Given the description of an element on the screen output the (x, y) to click on. 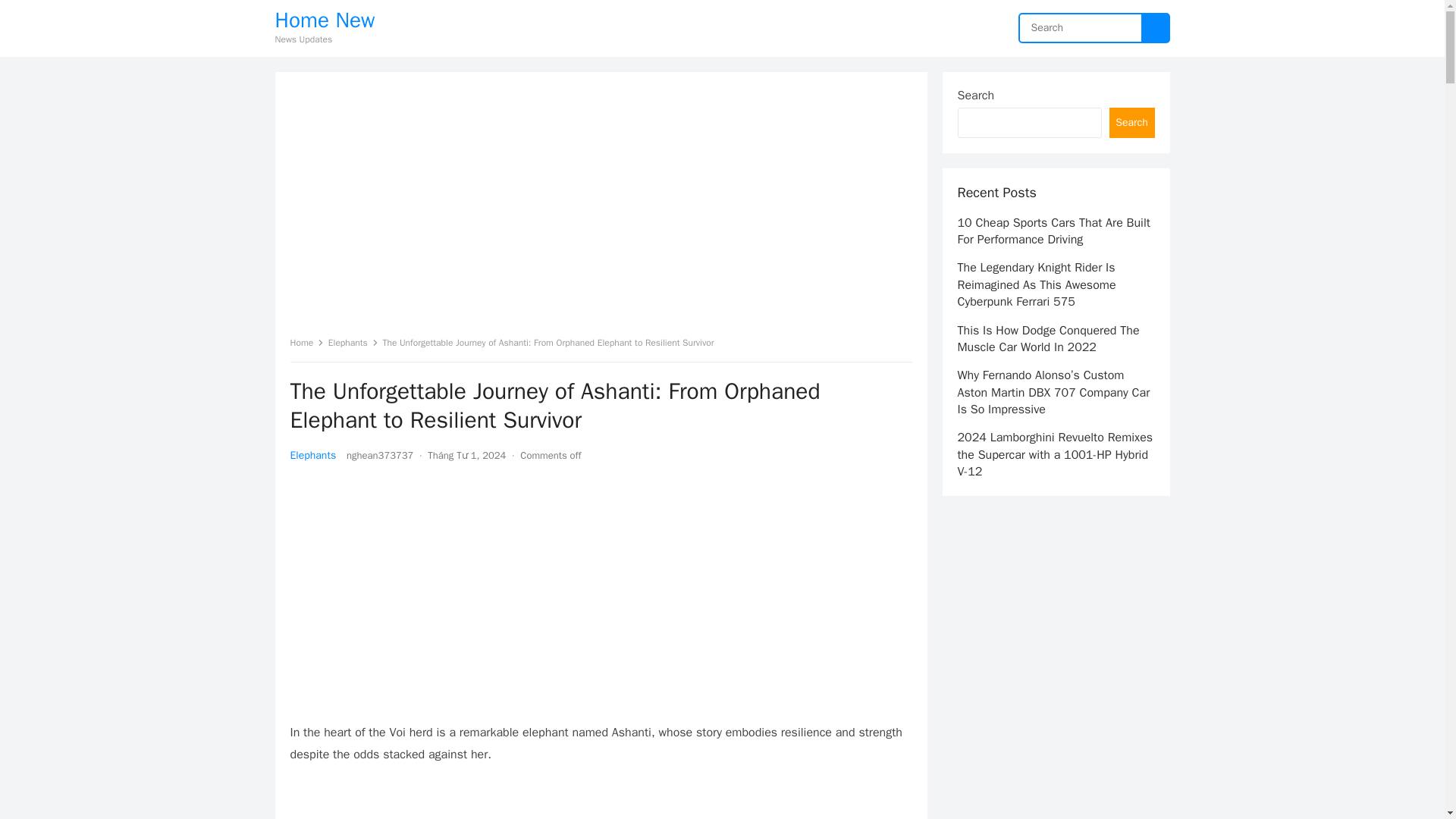
Home New (324, 20)
Home (306, 342)
Elephants (312, 454)
Advertisement (402, 801)
Advertisement (600, 594)
Elephants (353, 342)
Advertisement (402, 207)
nghean373737 (379, 454)
